Given the description of an element on the screen output the (x, y) to click on. 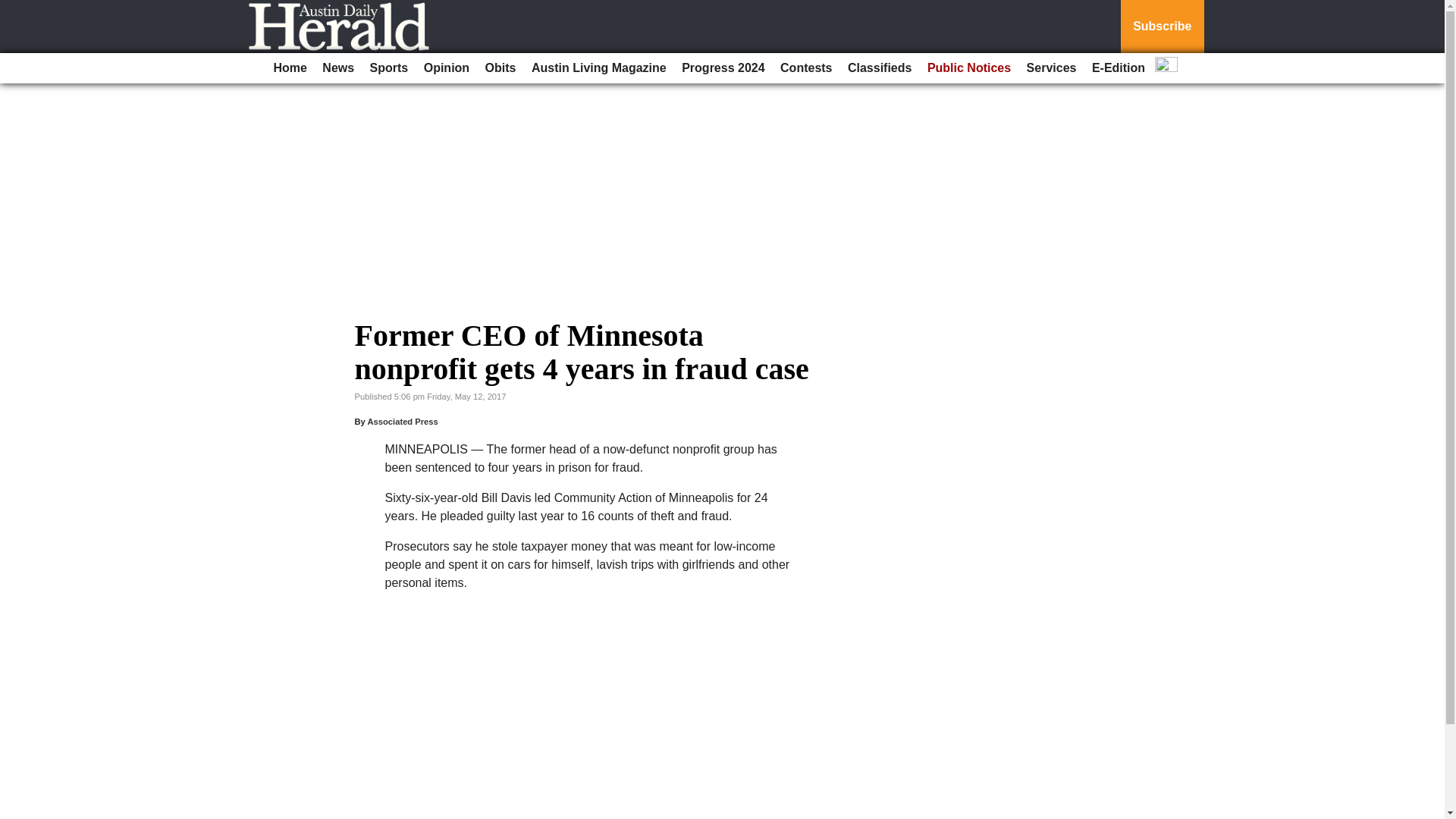
Progress 2024 (722, 68)
Subscribe (1162, 26)
Public Notices (968, 68)
Contests (806, 68)
Opinion (446, 68)
Classifieds (879, 68)
Obits (500, 68)
News (337, 68)
Home (289, 68)
Austin Living Magazine (598, 68)
Sports (389, 68)
Services (1051, 68)
